Given the description of an element on the screen output the (x, y) to click on. 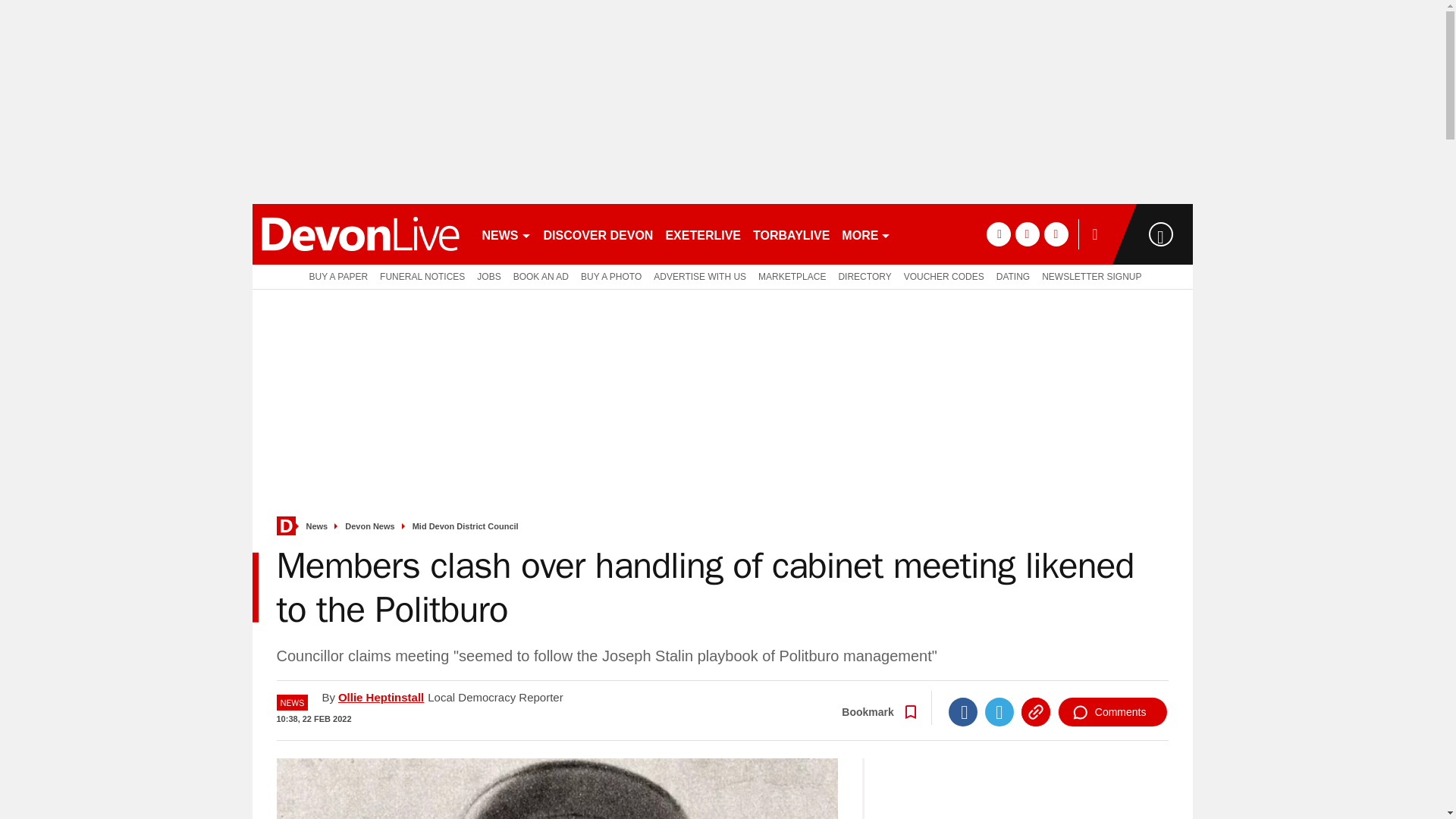
TORBAYLIVE (790, 233)
twitter (1026, 233)
MORE (865, 233)
Twitter (999, 711)
Facebook (962, 711)
devonlive (359, 233)
Comments (1112, 711)
EXETERLIVE (702, 233)
DISCOVER DEVON (598, 233)
facebook (997, 233)
